Given the description of an element on the screen output the (x, y) to click on. 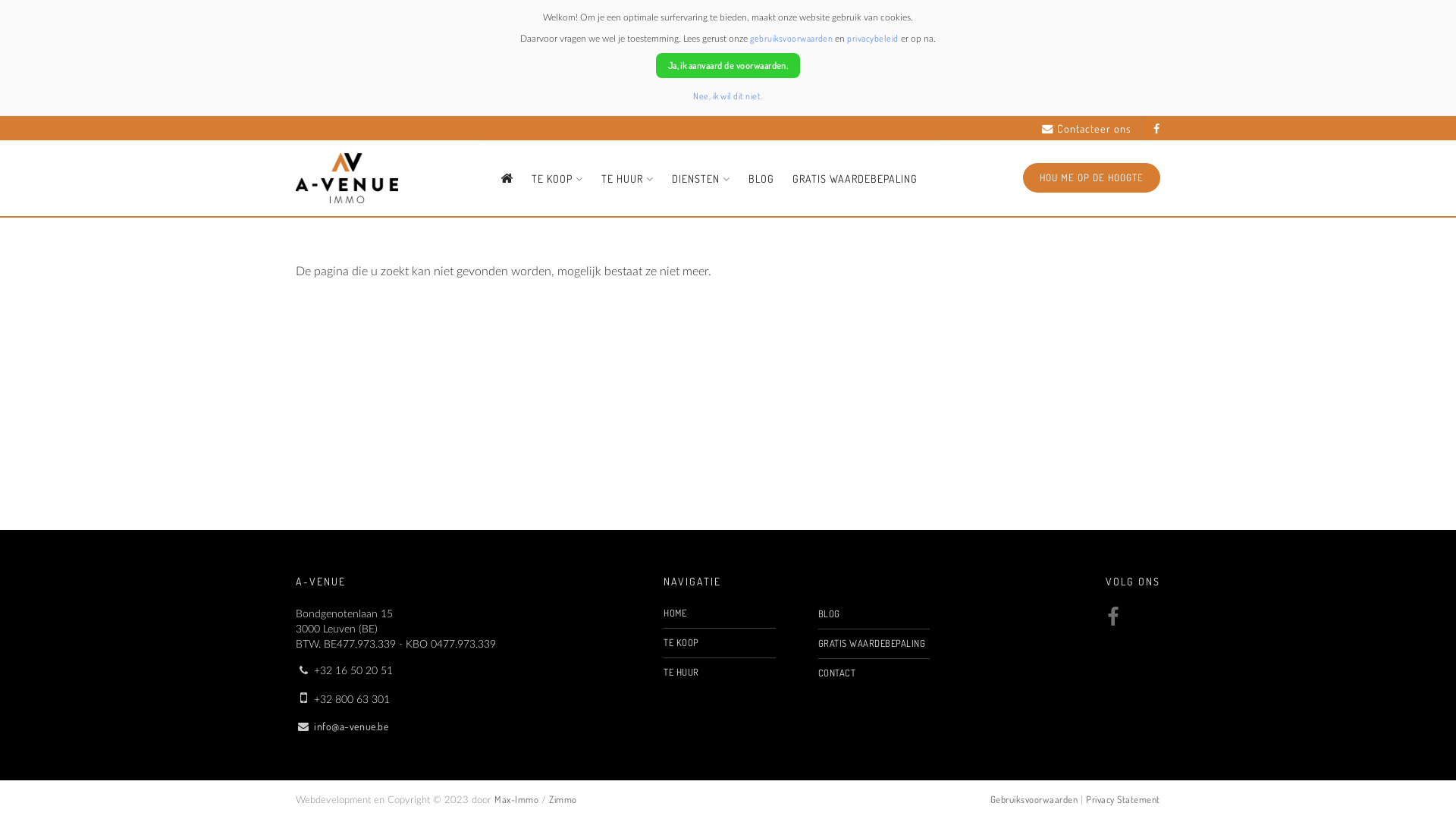
info@a-venue.be Element type: text (350, 725)
Contacteer ons Element type: text (1086, 128)
BLOG Element type: text (872, 614)
GRATIS WAARDEBEPALING Element type: text (854, 178)
HOU ME OP DE HOOGTE Element type: text (1091, 177)
Gebruiksvoorwaarden Element type: text (1034, 799)
Ja, ik aanvaard de voorwaarden. Element type: text (727, 65)
Zimmo Element type: text (563, 799)
TE KOOP Element type: text (557, 178)
BLOG Element type: text (761, 178)
TE HUUR Element type: text (719, 672)
TE KOOP Element type: text (719, 642)
GRATIS WAARDEBEPALING Element type: text (872, 643)
DIENSTEN Element type: text (700, 178)
HOME Element type: text (719, 613)
privacybeleid Element type: text (872, 37)
CONTACT Element type: text (872, 673)
Max-Immo Element type: text (516, 799)
gebruiksvoorwaarden Element type: text (790, 37)
Nee, ik wil dit niet. Element type: text (727, 95)
TE HUUR Element type: text (627, 178)
Privacy Statement Element type: text (1122, 799)
